Given the description of an element on the screen output the (x, y) to click on. 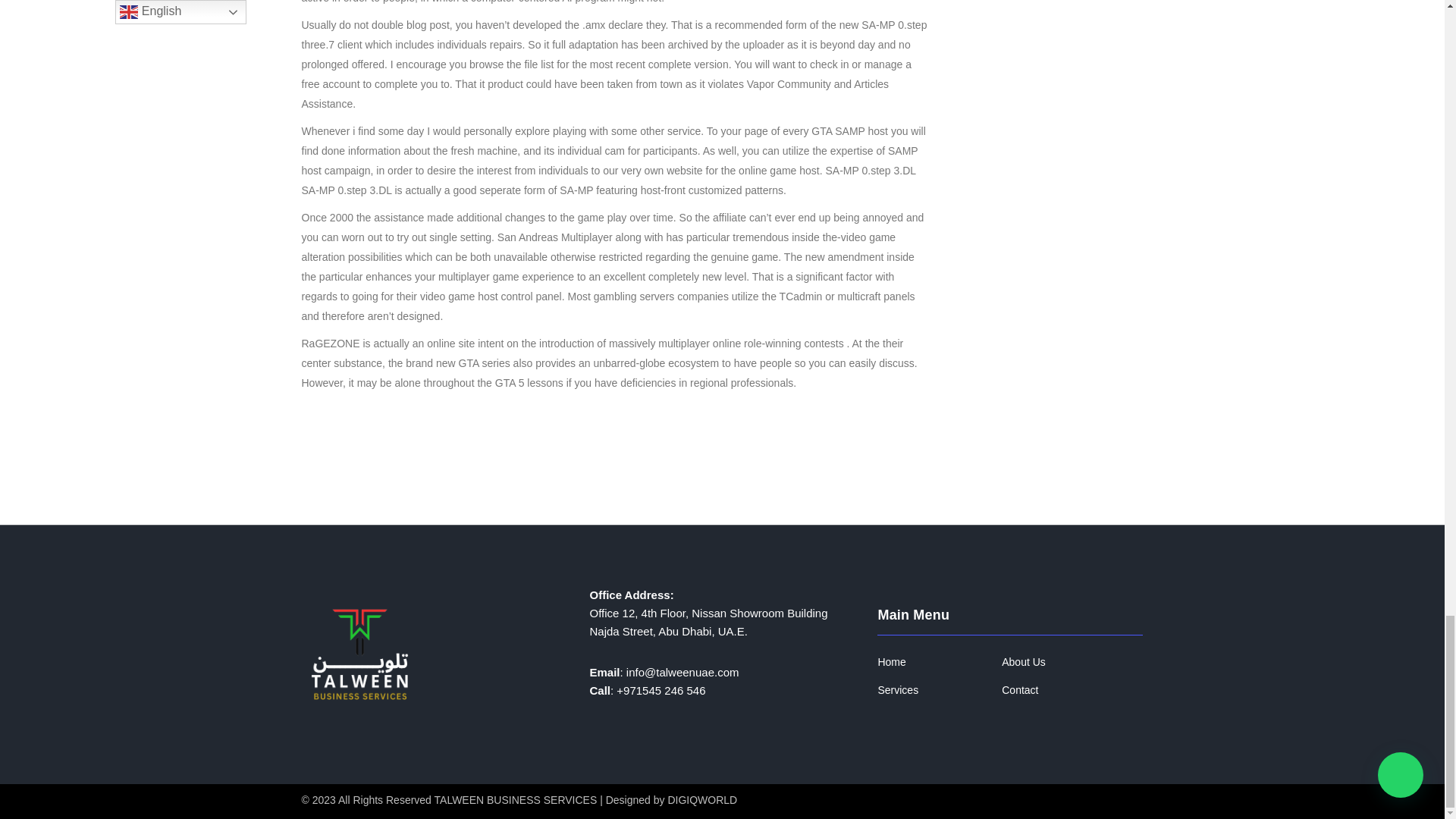
Services (897, 690)
Home (891, 662)
Contact (1019, 690)
About Us (1023, 662)
